Given the description of an element on the screen output the (x, y) to click on. 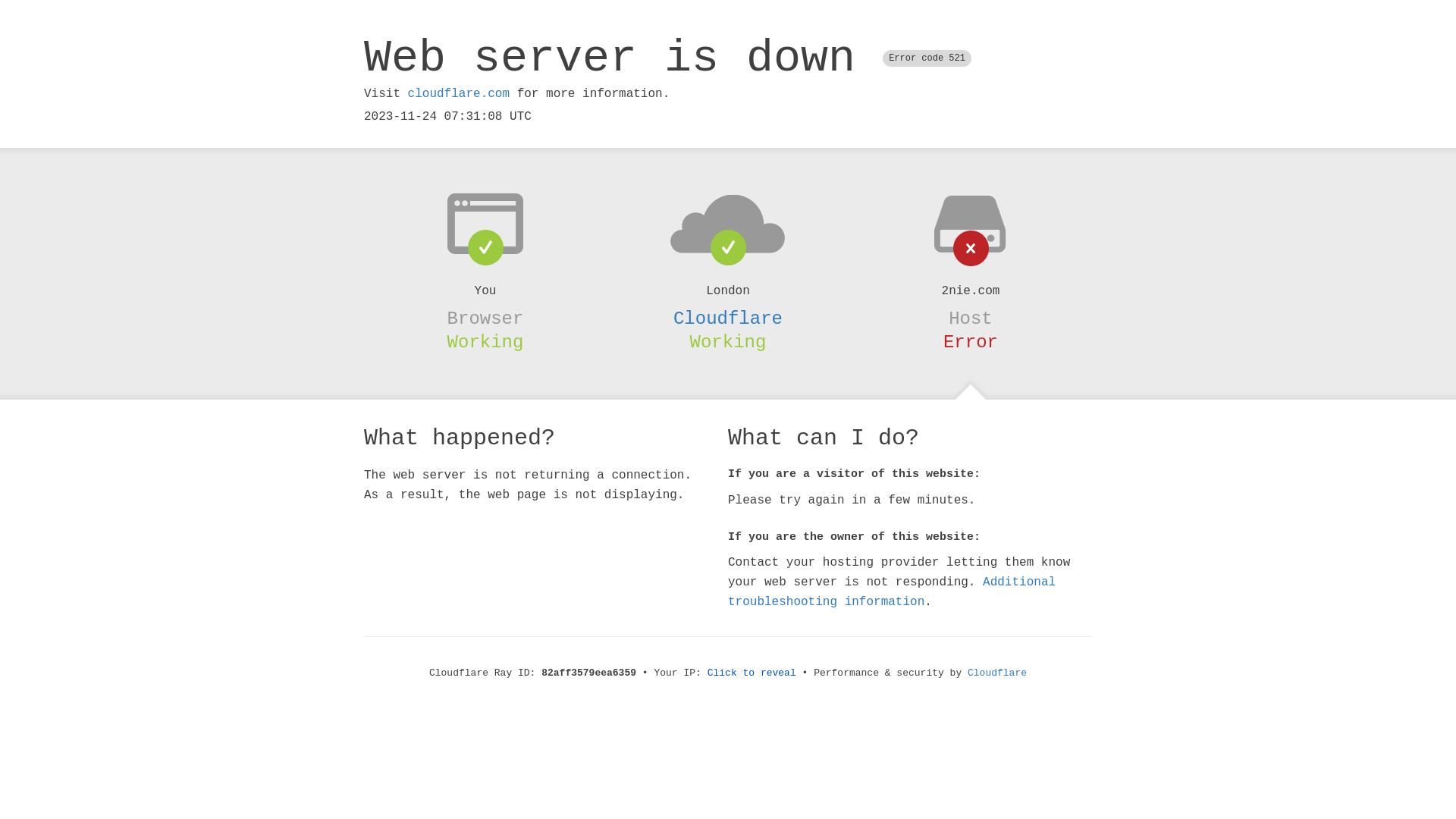
Additional troubleshooting information Element type: text (891, 591)
Cloudflare Element type: text (727, 318)
Cloudflare Element type: text (996, 672)
Click to reveal Element type: text (751, 672)
cloudflare.com Element type: text (458, 93)
